Given the description of an element on the screen output the (x, y) to click on. 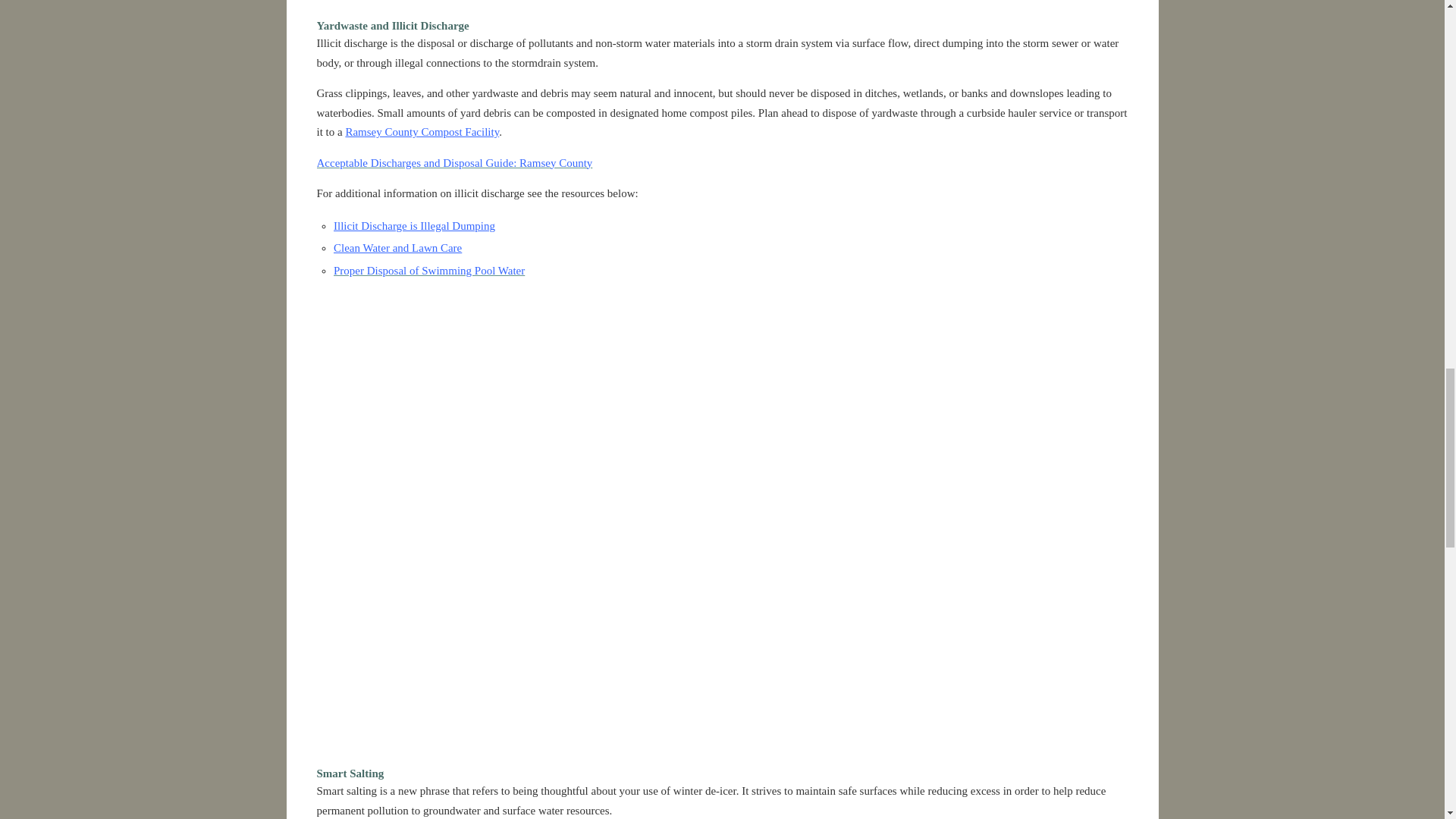
Ramsey County Compost Facility (422, 132)
Acceptable Discharges and Disposal Guide: Ramsey County (454, 162)
